Given the description of an element on the screen output the (x, y) to click on. 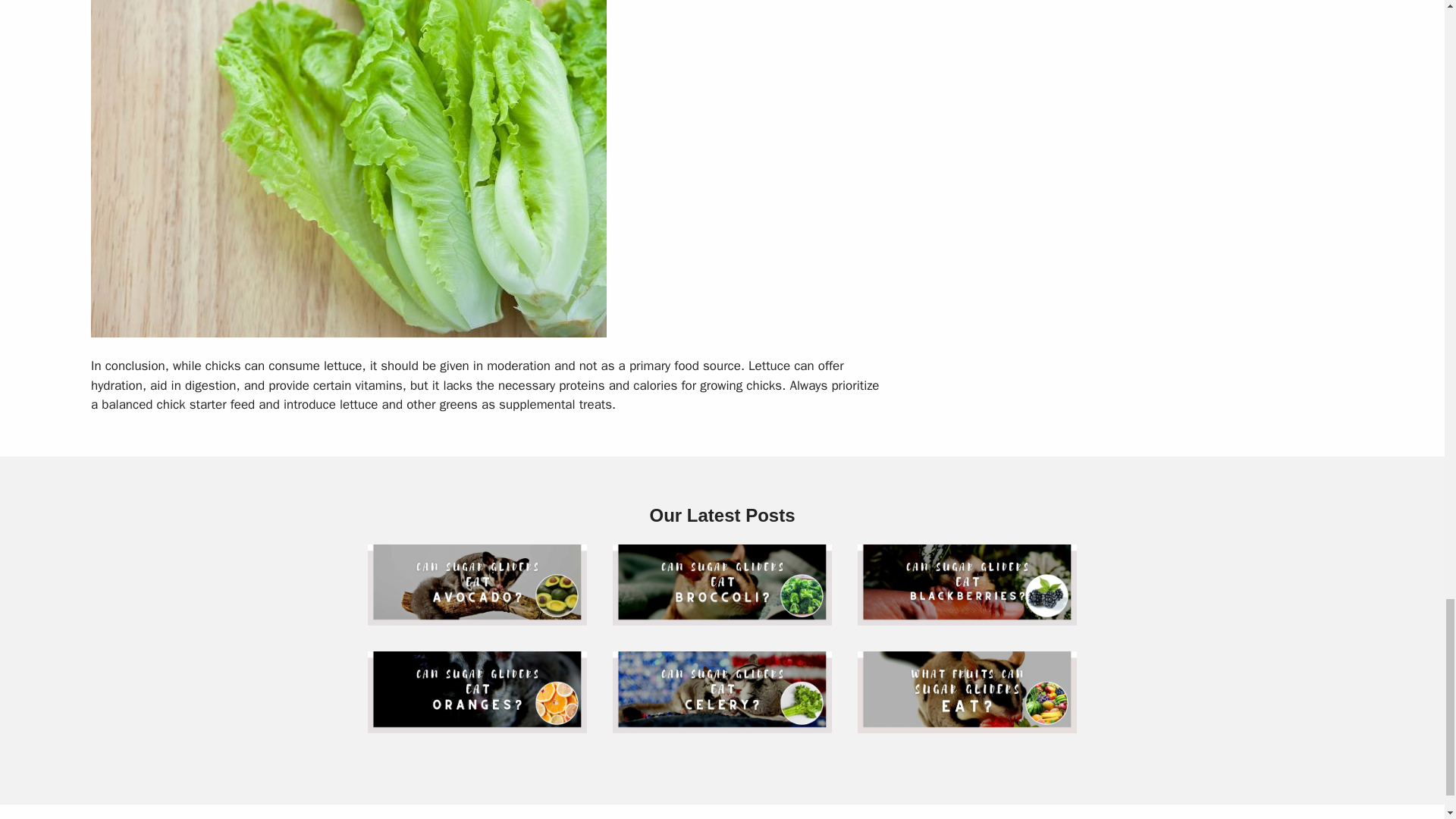
Can Sugar Gliders Eat Blackberries? (967, 616)
Can Sugar Gliders Eat Broccoli? (721, 616)
Can Sugar Gliders Eat Avocado? (477, 616)
Can Sugar Gliders Eat Celery? (721, 722)
What Fruits Can Sugar Gliders Eat? (967, 722)
Can Sugar Gliders Eat Oranges? (477, 722)
